Given the description of an element on the screen output the (x, y) to click on. 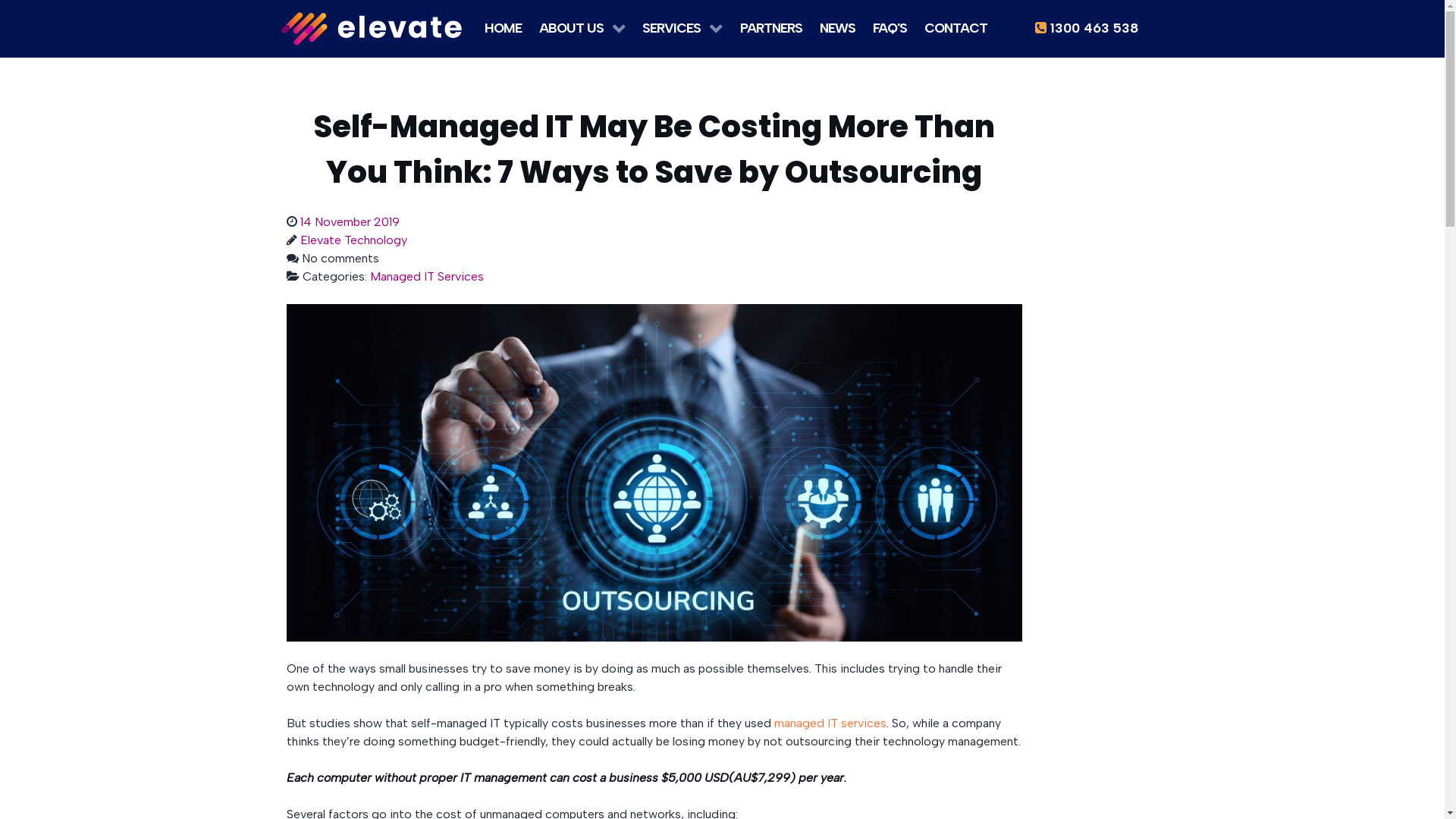
managed IT services Element type: text (829, 722)
NEWS Element type: text (837, 26)
14 November 2019 Element type: text (349, 221)
CONTACT Element type: text (955, 26)
Managed IT Services Element type: text (426, 276)
$5,000 USD Element type: text (694, 777)
HOME Element type: text (502, 26)
FAQ'S Element type: text (889, 26)
PARTNERS Element type: text (771, 26)
SERVICES Element type: text (681, 26)
ABOUT US Element type: text (581, 26)
Elevate Technology Element type: text (353, 239)
1300 463 538 Element type: text (1085, 27)
